Given the description of an element on the screen output the (x, y) to click on. 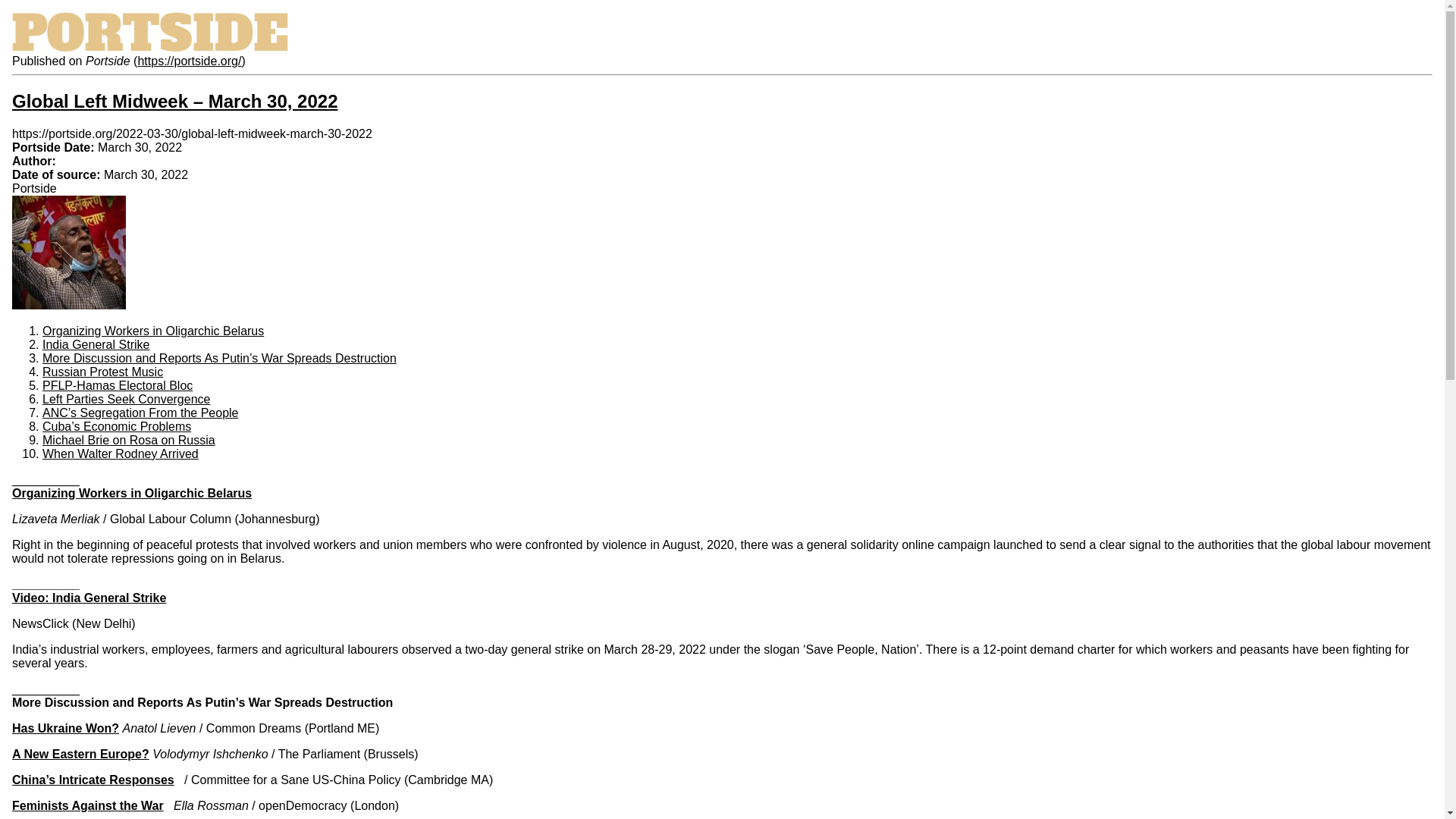
India General Strike (95, 344)
Organizing Workers in Oligarchic Belarus (152, 330)
When Walter Rodney Arrived (120, 453)
A New Eastern Europe? (80, 753)
Michael Brie on Rosa on Russia (128, 440)
Left Parties Seek Convergence (125, 399)
Has Ukraine Won? (65, 727)
Video: India General Strike (88, 597)
PFLP-Hamas Electoral Bloc (117, 385)
Russian Protest Music (102, 371)
